Given the description of an element on the screen output the (x, y) to click on. 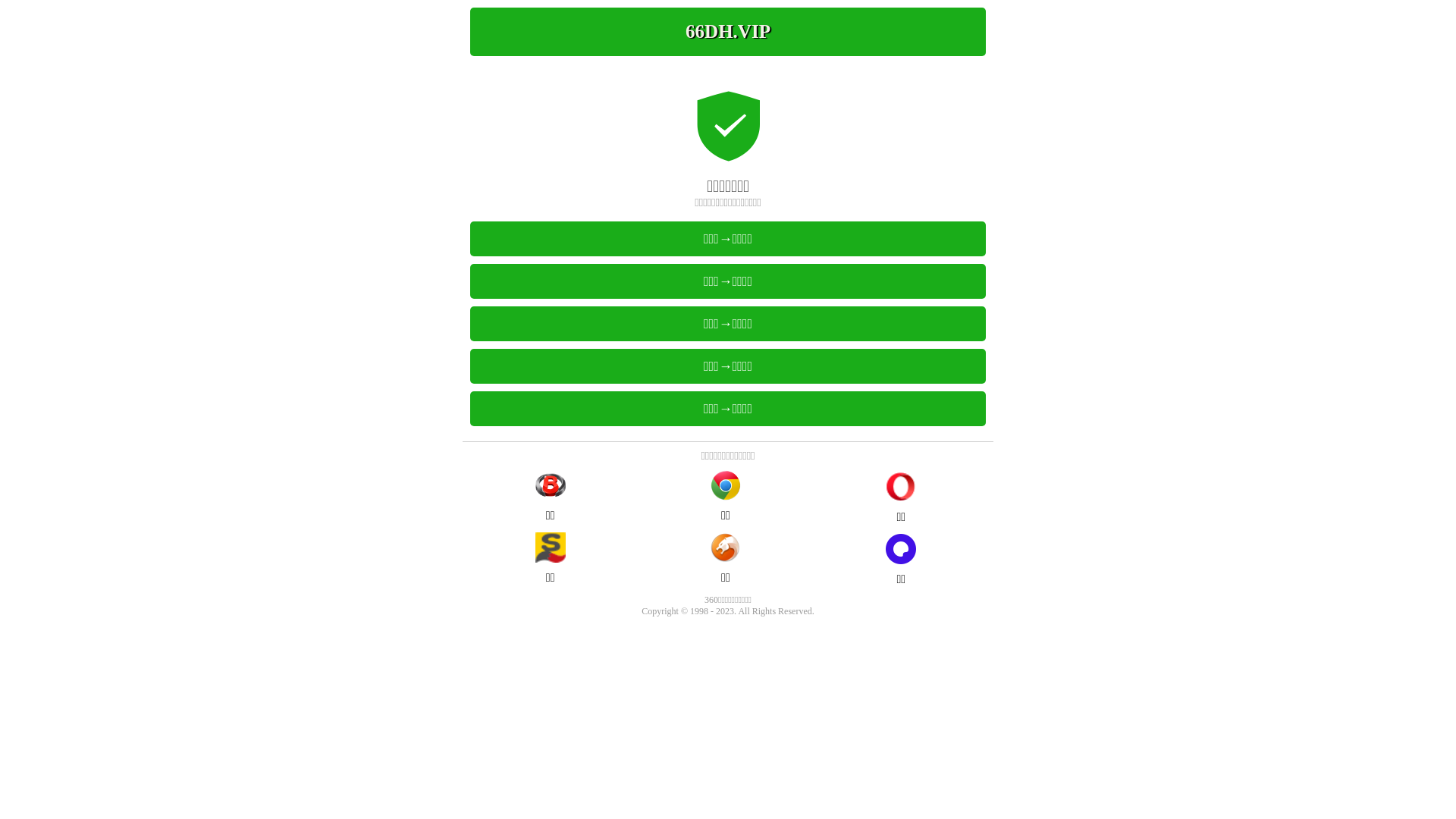
66DH.VIP Element type: text (727, 31)
